Given the description of an element on the screen output the (x, y) to click on. 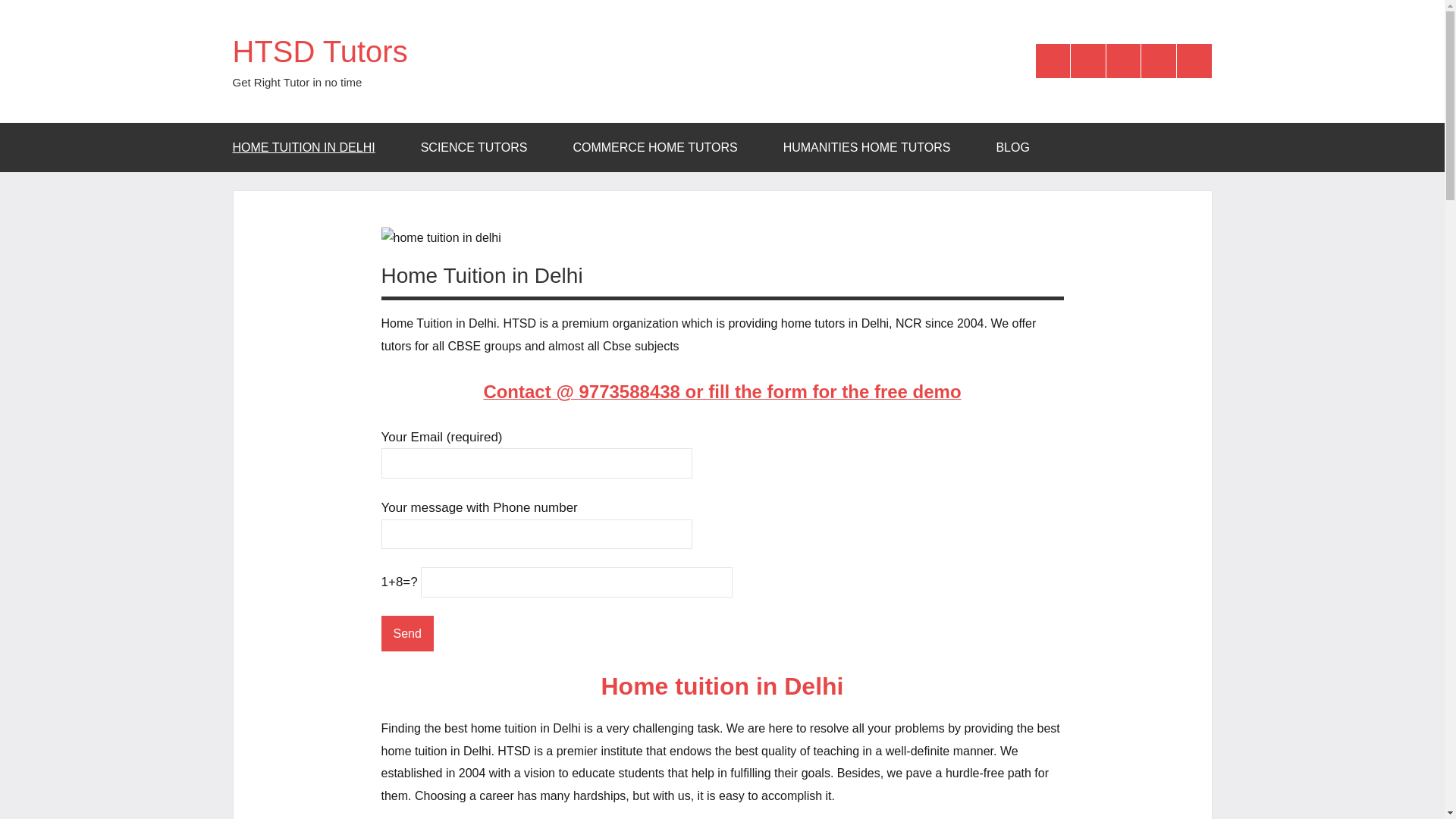
COMMERCE HOME TUTORS (659, 146)
SCIENCE TUTORS (478, 146)
Send (406, 633)
facebook (1052, 61)
pintrest (1123, 61)
twitter (1087, 61)
BLOG (1011, 146)
Send (406, 633)
Linkedin (1193, 61)
HTSD Tutors (319, 51)
You Tube (1158, 61)
HOME TUITION IN DELHI (307, 146)
HUMANITIES HOME TUTORS (871, 146)
